Given the description of an element on the screen output the (x, y) to click on. 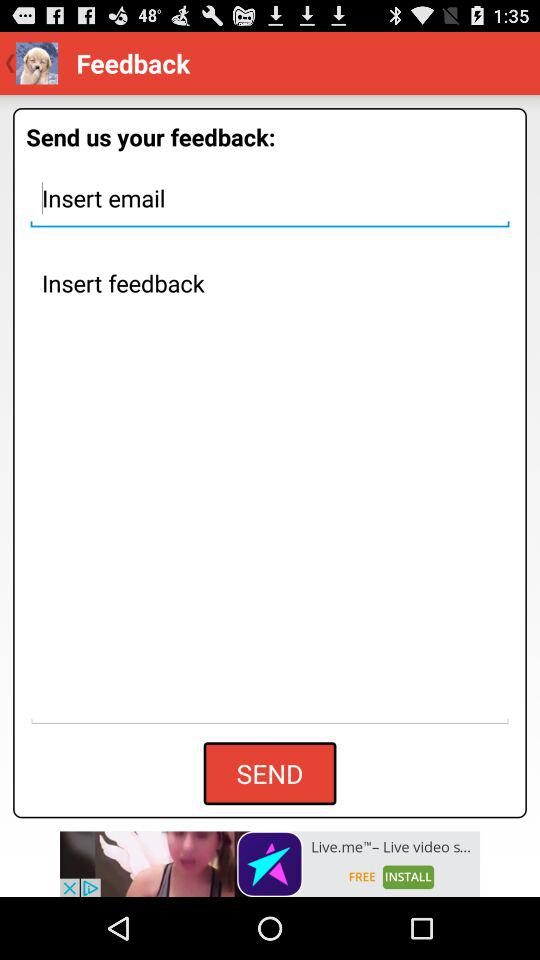
go to insert (269, 198)
